Given the description of an element on the screen output the (x, y) to click on. 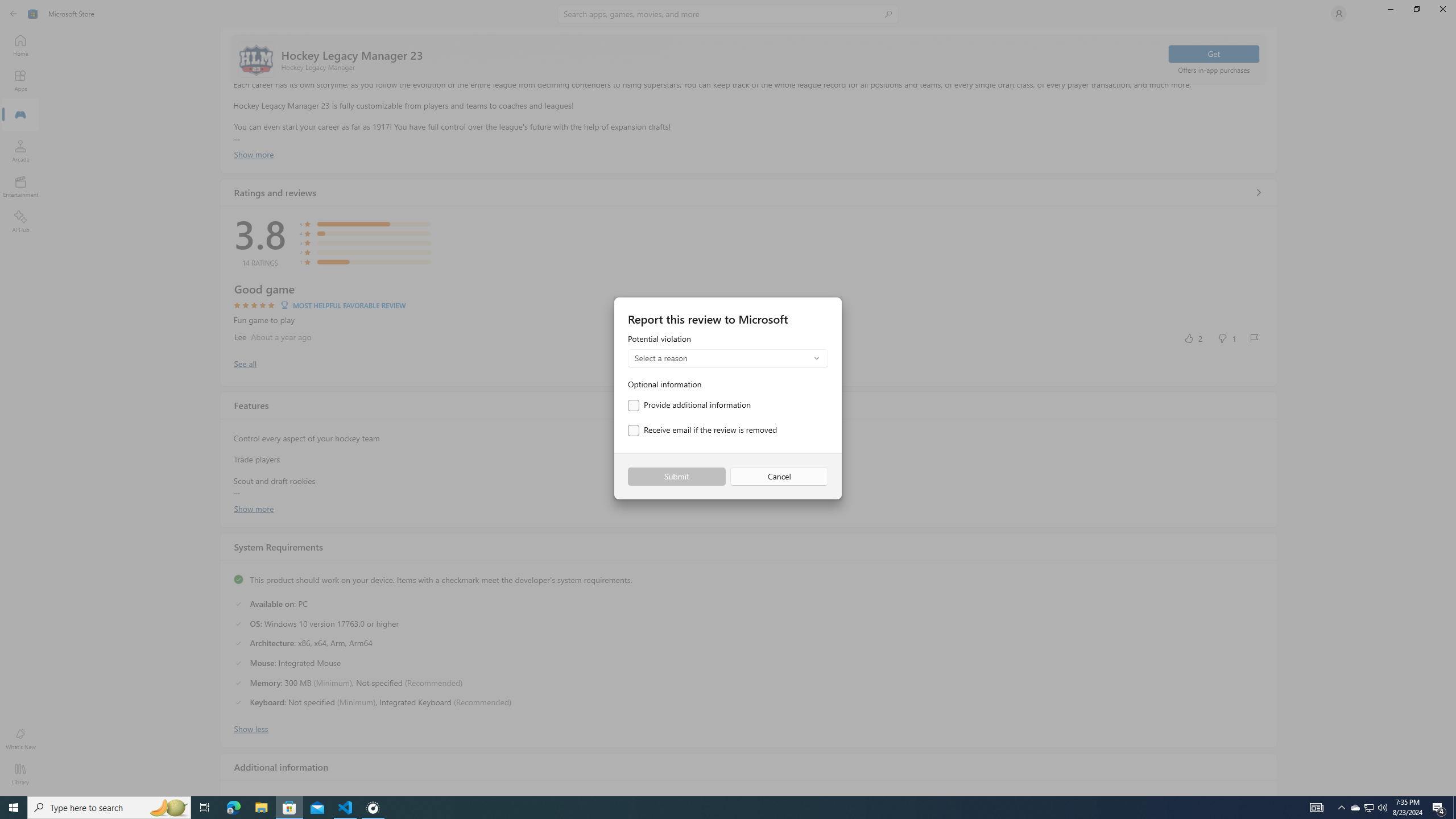
Gaming (20, 115)
